Given the description of an element on the screen output the (x, y) to click on. 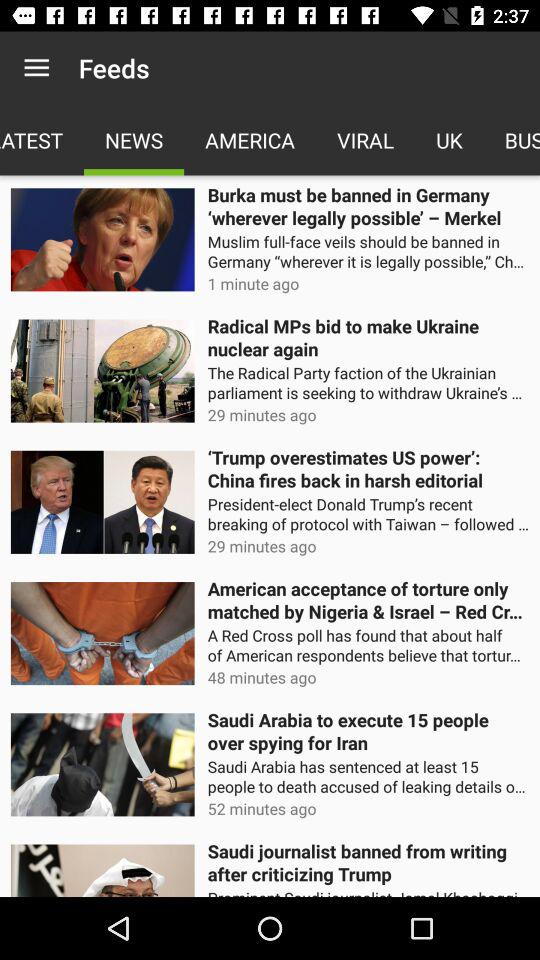
press icon next to feeds icon (36, 68)
